Given the description of an element on the screen output the (x, y) to click on. 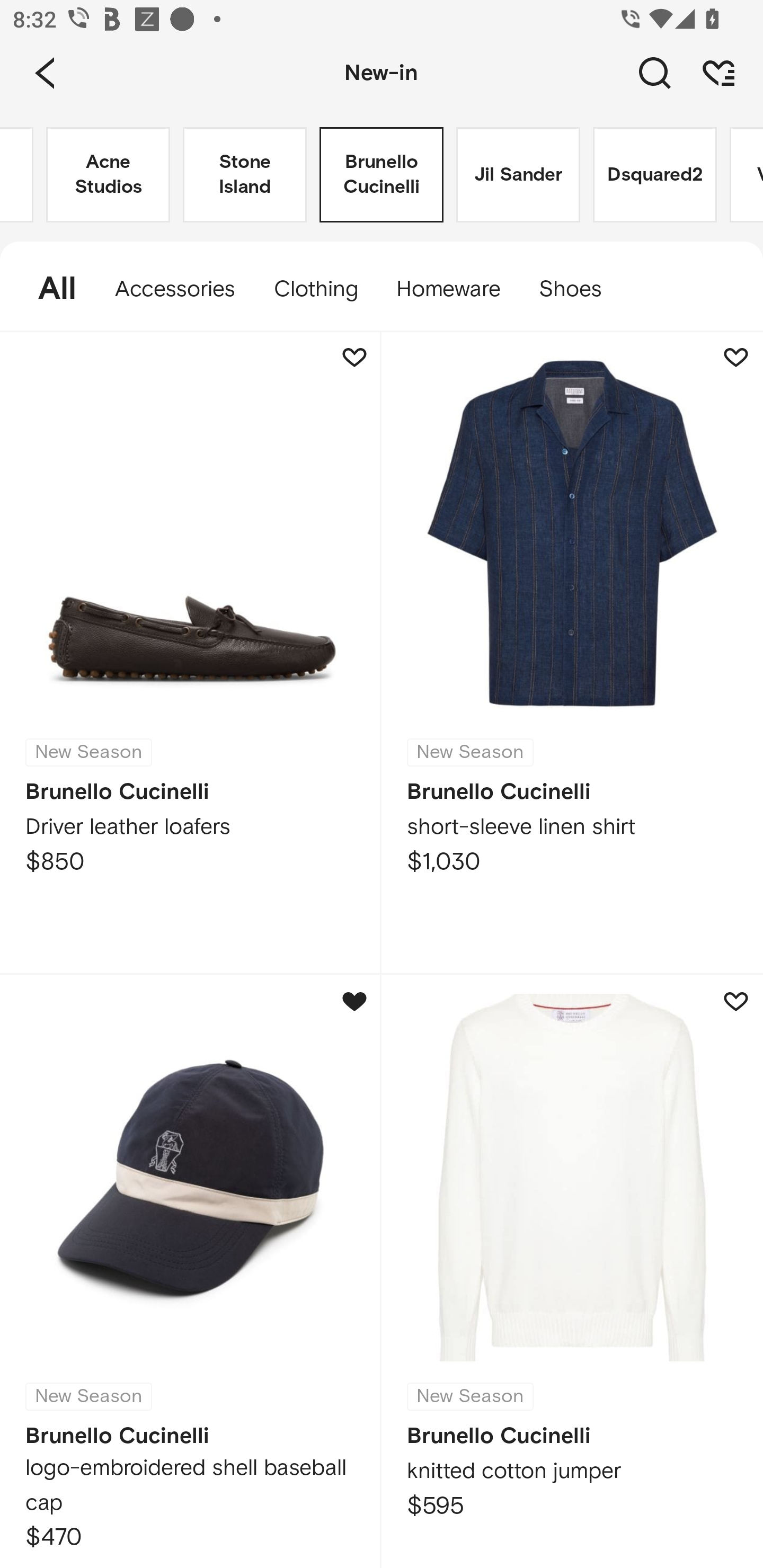
Acne Studios (107, 174)
Stone Island (244, 174)
Brunello Cucinelli (381, 174)
Jil Sander (517, 174)
Dsquared2 (654, 174)
All (47, 288)
Accessories (174, 288)
Clothing (315, 288)
Homeware (447, 288)
Shoes (579, 288)
